Given the description of an element on the screen output the (x, y) to click on. 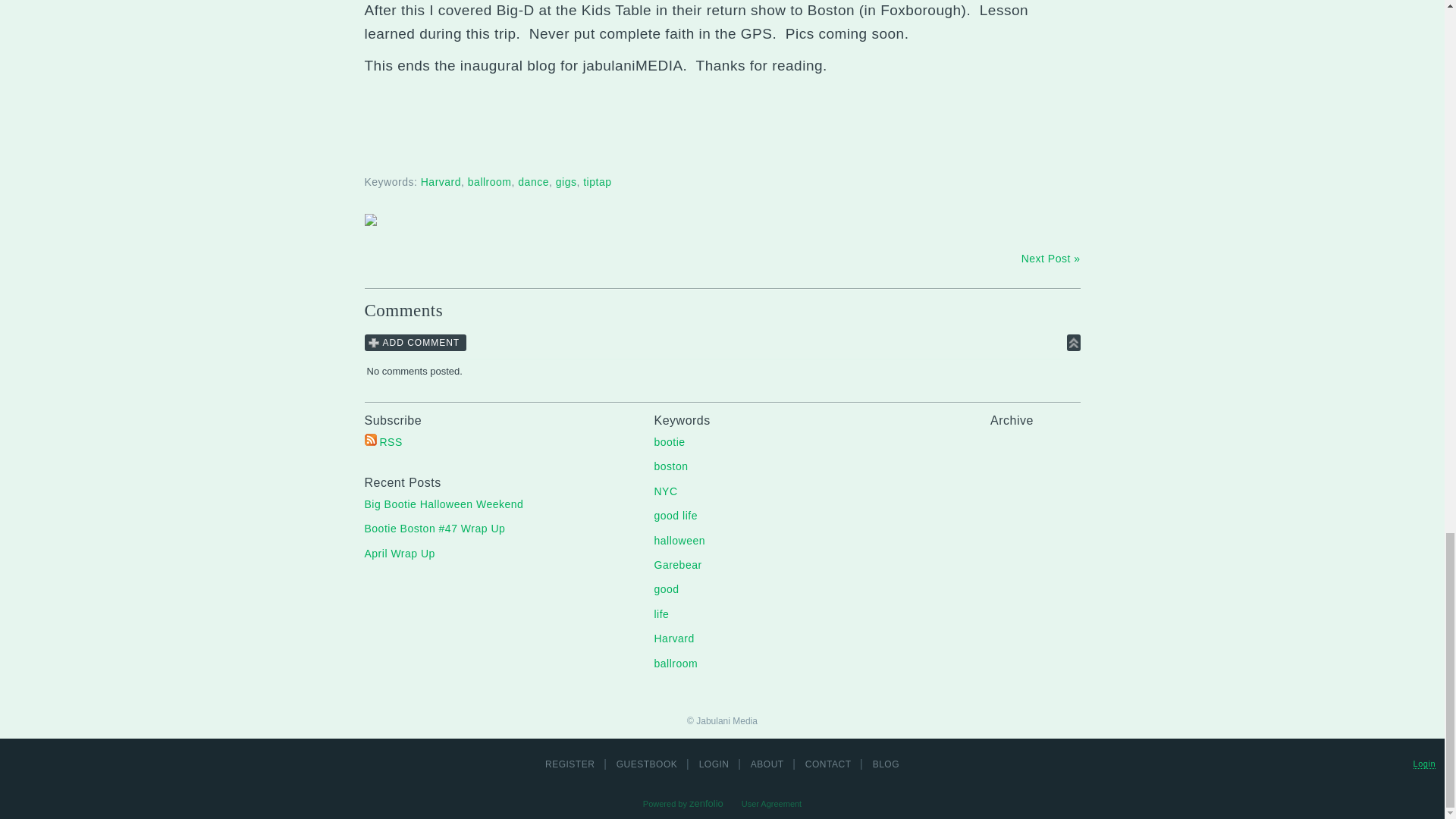
gigs (566, 182)
dance (533, 182)
ADD COMMENT (414, 342)
ballroom (489, 182)
tiptap (597, 182)
Harvard (440, 182)
